Given the description of an element on the screen output the (x, y) to click on. 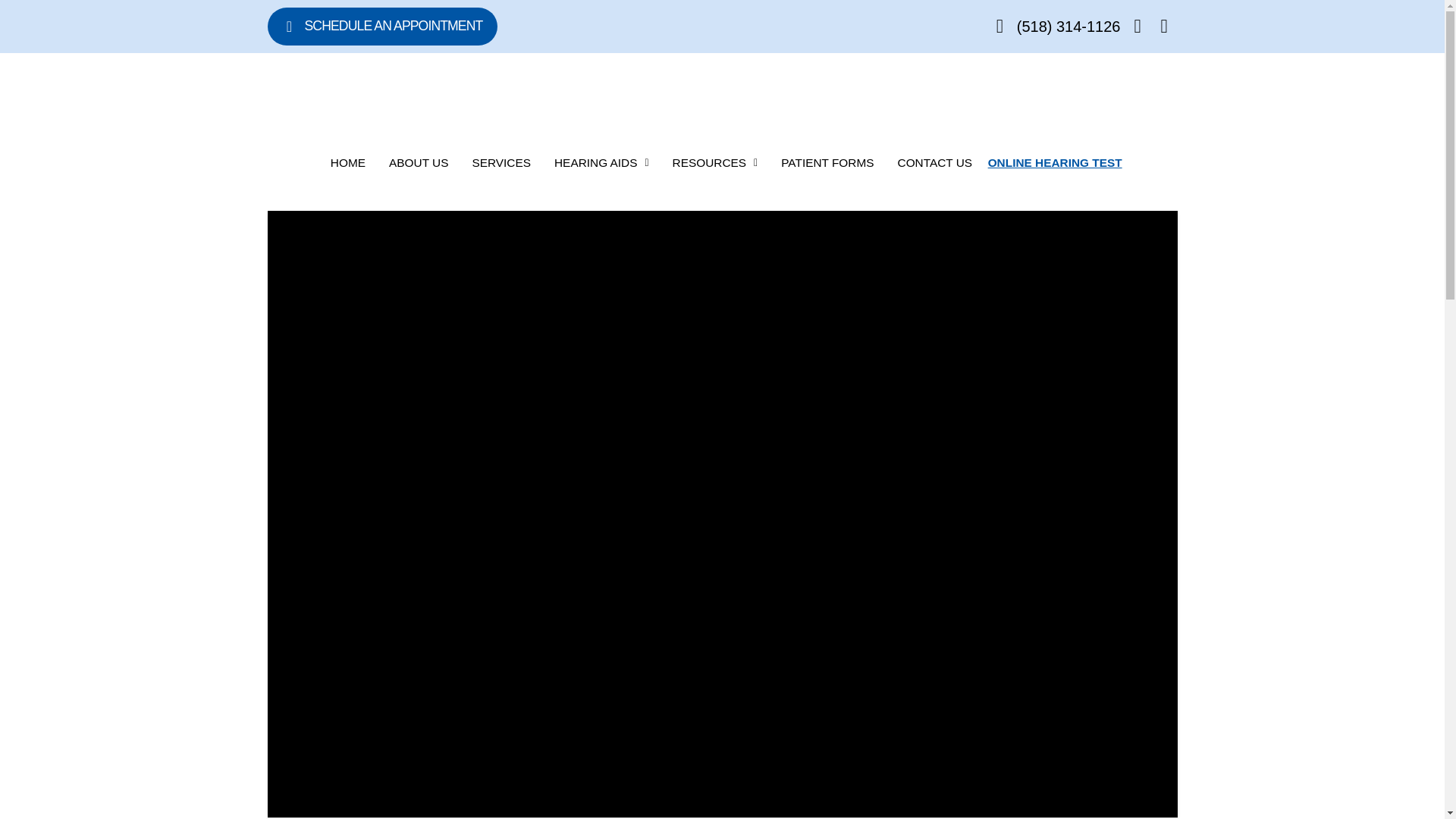
HEARING AIDS (602, 162)
CONTACT US (934, 162)
ONLINE HEARING TEST (1054, 162)
SERVICES (501, 162)
SCHEDULE AN APPOINTMENT (381, 26)
ABOUT US (418, 162)
RESOURCES (715, 162)
PATIENT FORMS (827, 162)
HOME (347, 162)
